Given the description of an element on the screen output the (x, y) to click on. 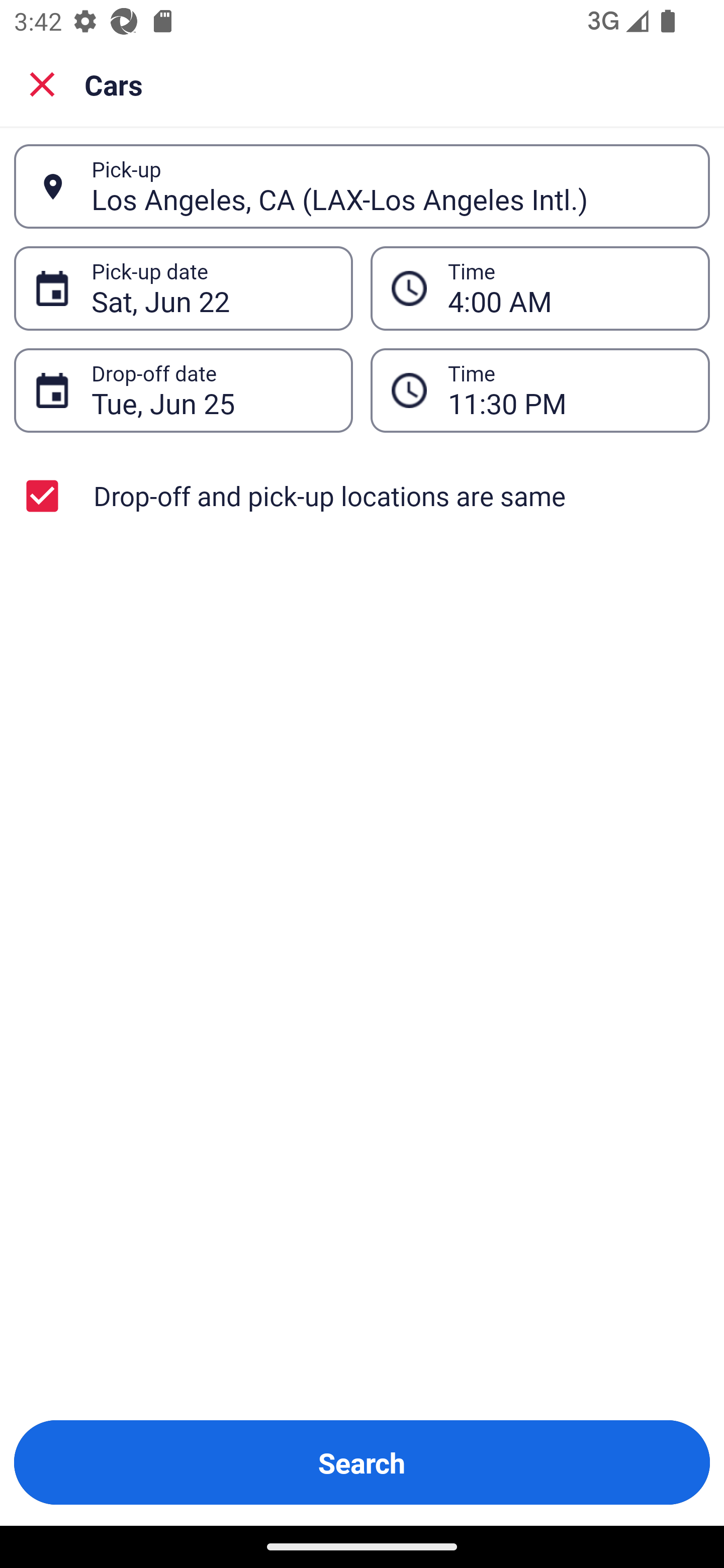
Close search screen (41, 83)
Los Angeles, CA (LAX-Los Angeles Intl.) Pick-up (361, 186)
Los Angeles, CA (LAX-Los Angeles Intl.) (389, 186)
Sat, Jun 22 Pick-up date (183, 288)
4:00 AM (540, 288)
Sat, Jun 22 (211, 288)
4:00 AM (568, 288)
Tue, Jun 25 Drop-off date (183, 390)
11:30 PM (540, 390)
Tue, Jun 25 (211, 390)
11:30 PM (568, 390)
Drop-off and pick-up locations are same (361, 495)
Search Button Search (361, 1462)
